Given the description of an element on the screen output the (x, y) to click on. 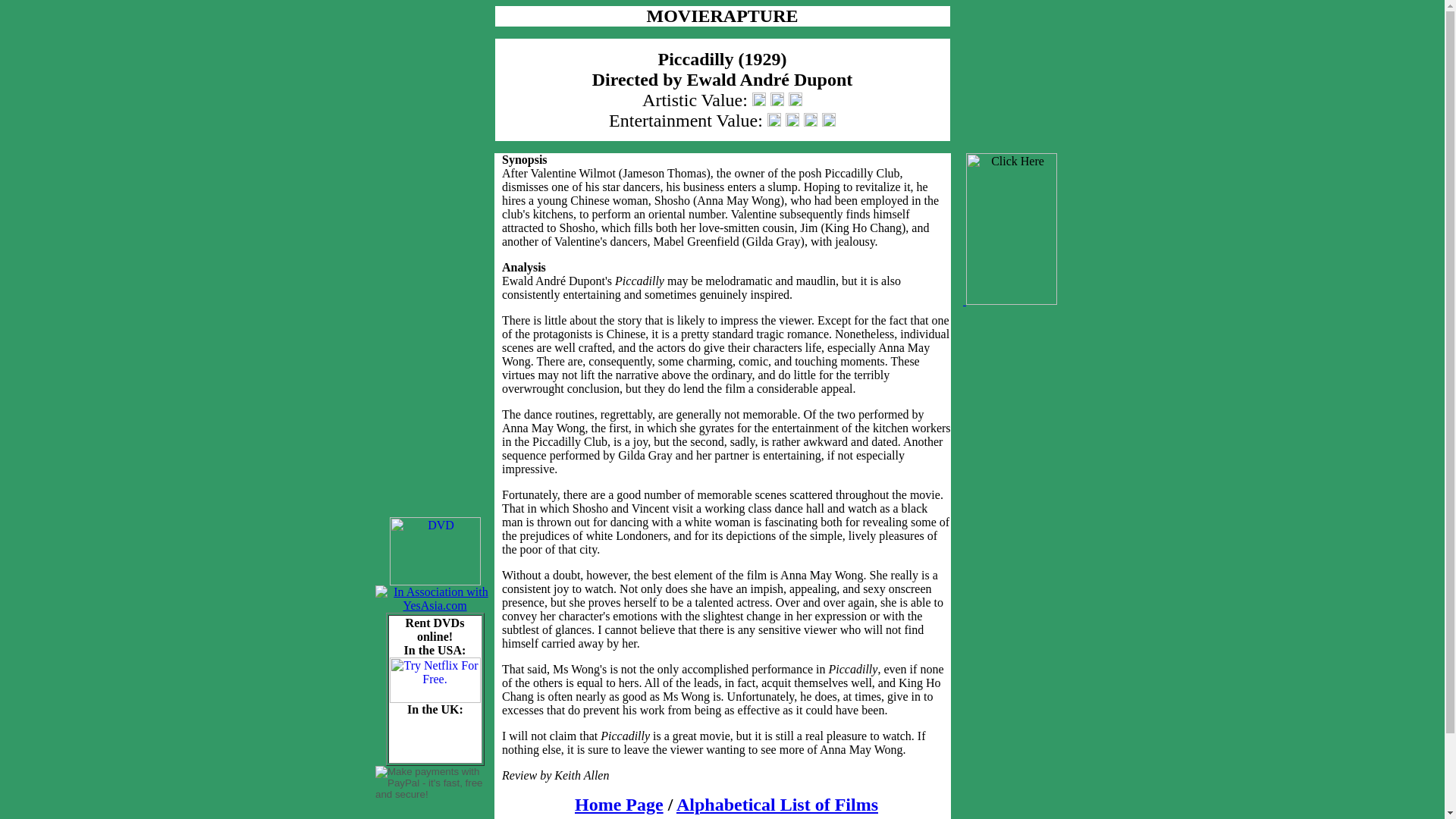
List of Films by Star Ratings (726, 816)
MOVIERAPTURE (721, 17)
Home Page (619, 804)
Alphabetical List of Films (777, 804)
